Given the description of an element on the screen output the (x, y) to click on. 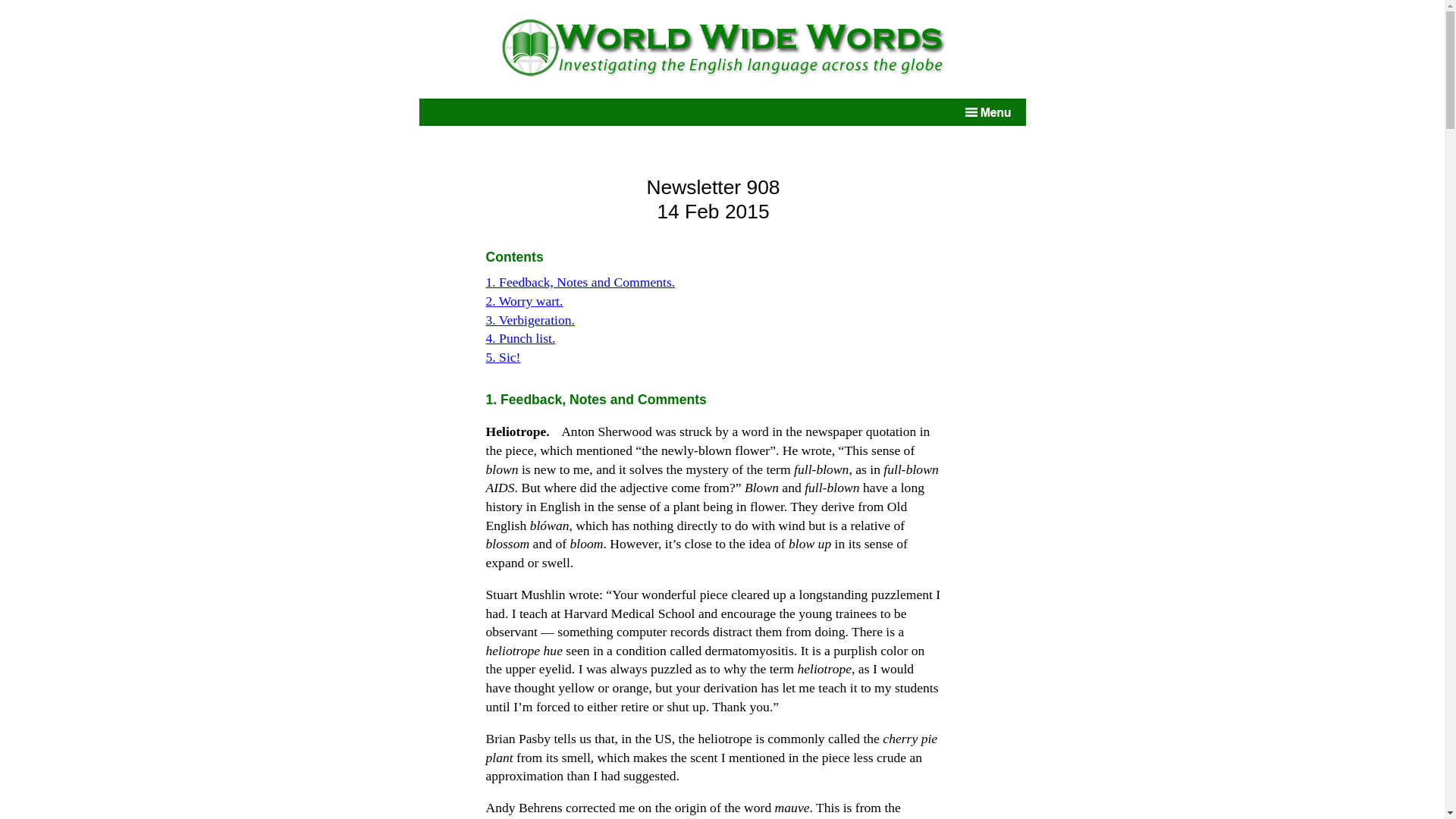
2. Worry wart. (523, 300)
5. Sic! (501, 356)
4. Punch list. (519, 337)
3. Verbigeration. (528, 319)
